Given the description of an element on the screen output the (x, y) to click on. 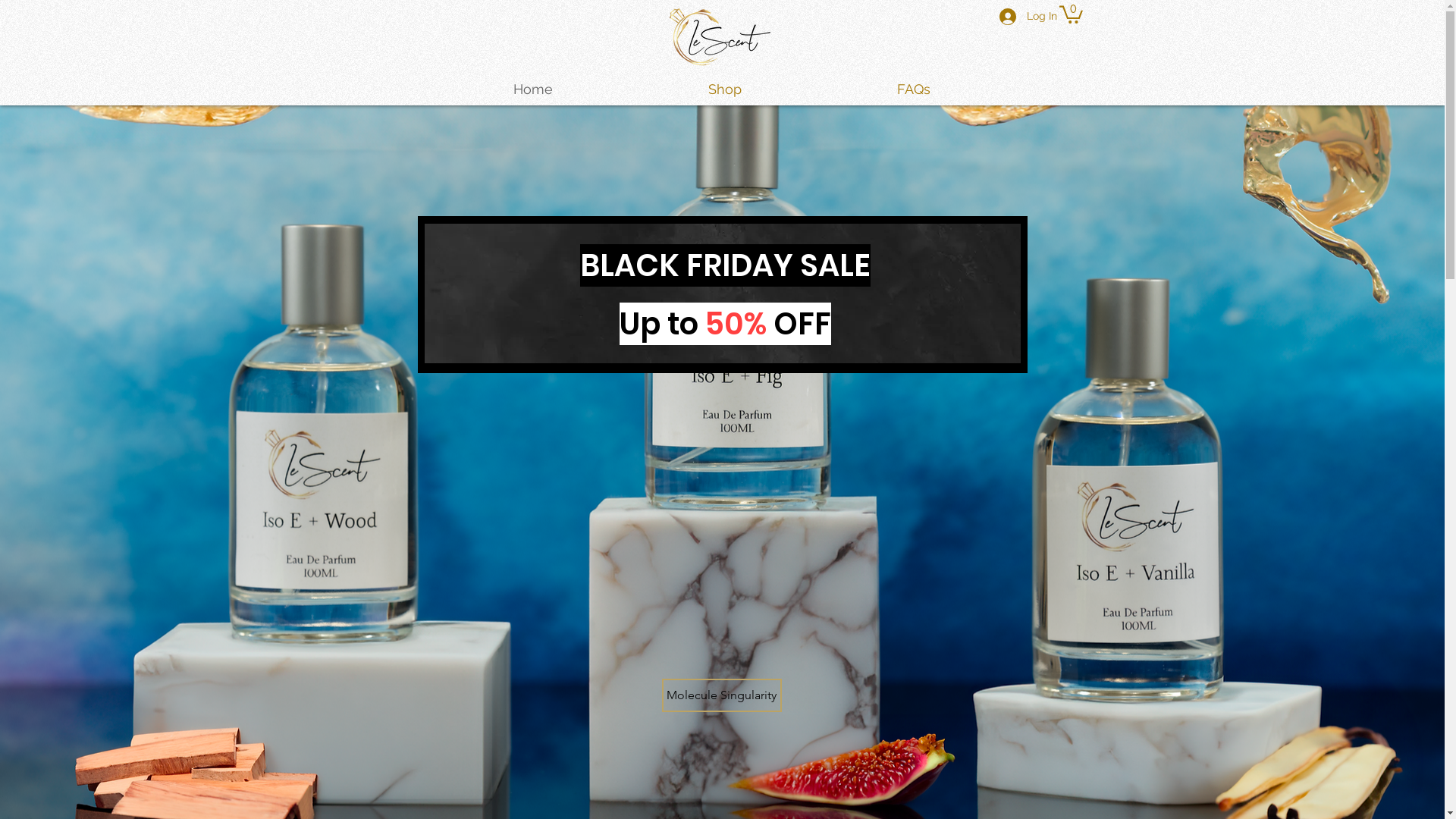
Shop Element type: text (724, 88)
Home Element type: text (532, 88)
FAQs Element type: text (913, 88)
Log In Element type: text (1018, 16)
0 Element type: text (1070, 13)
Molecule Singularity Element type: text (721, 695)
